Given the description of an element on the screen output the (x, y) to click on. 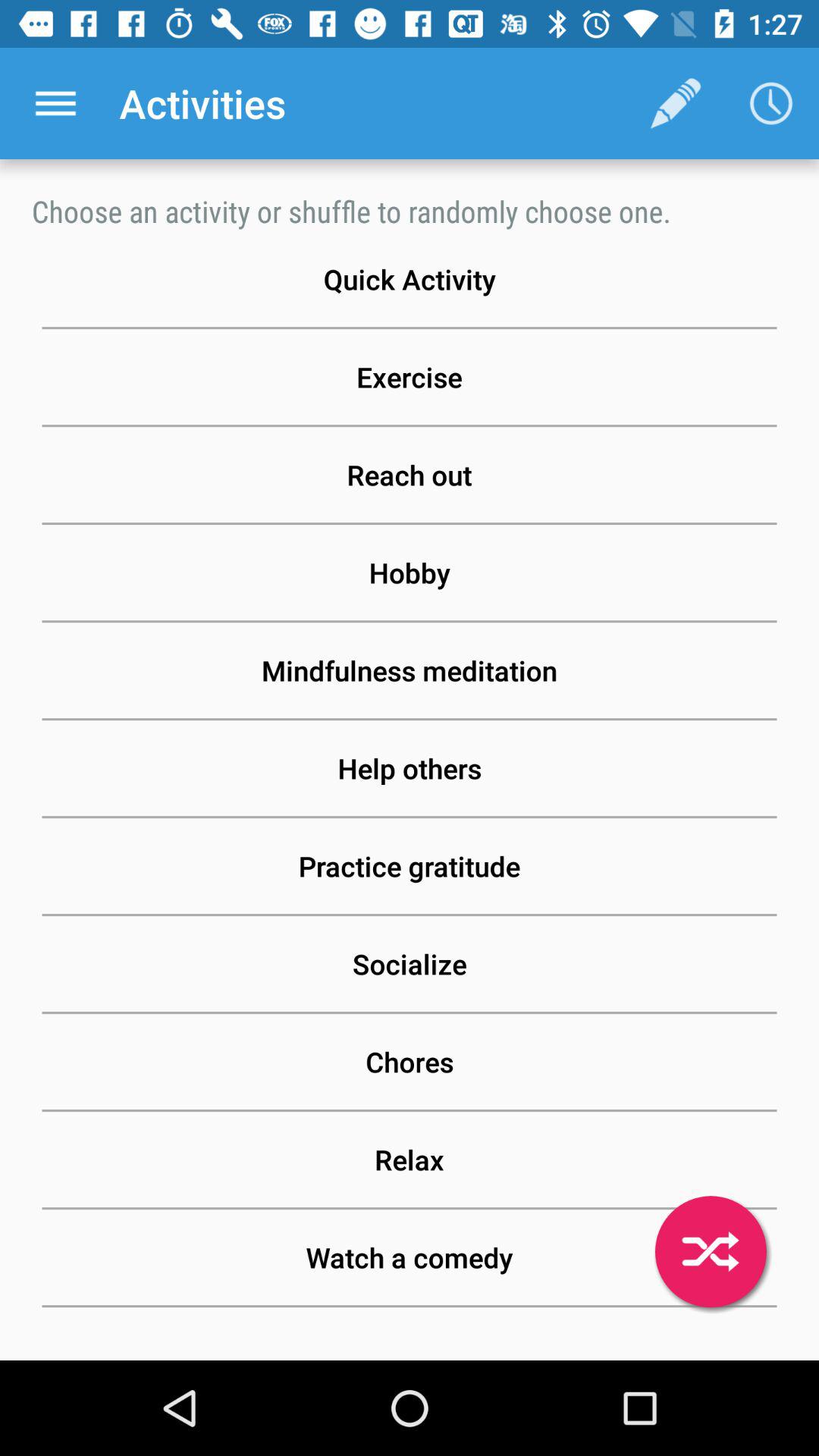
press item above the choose an activity app (55, 103)
